Given the description of an element on the screen output the (x, y) to click on. 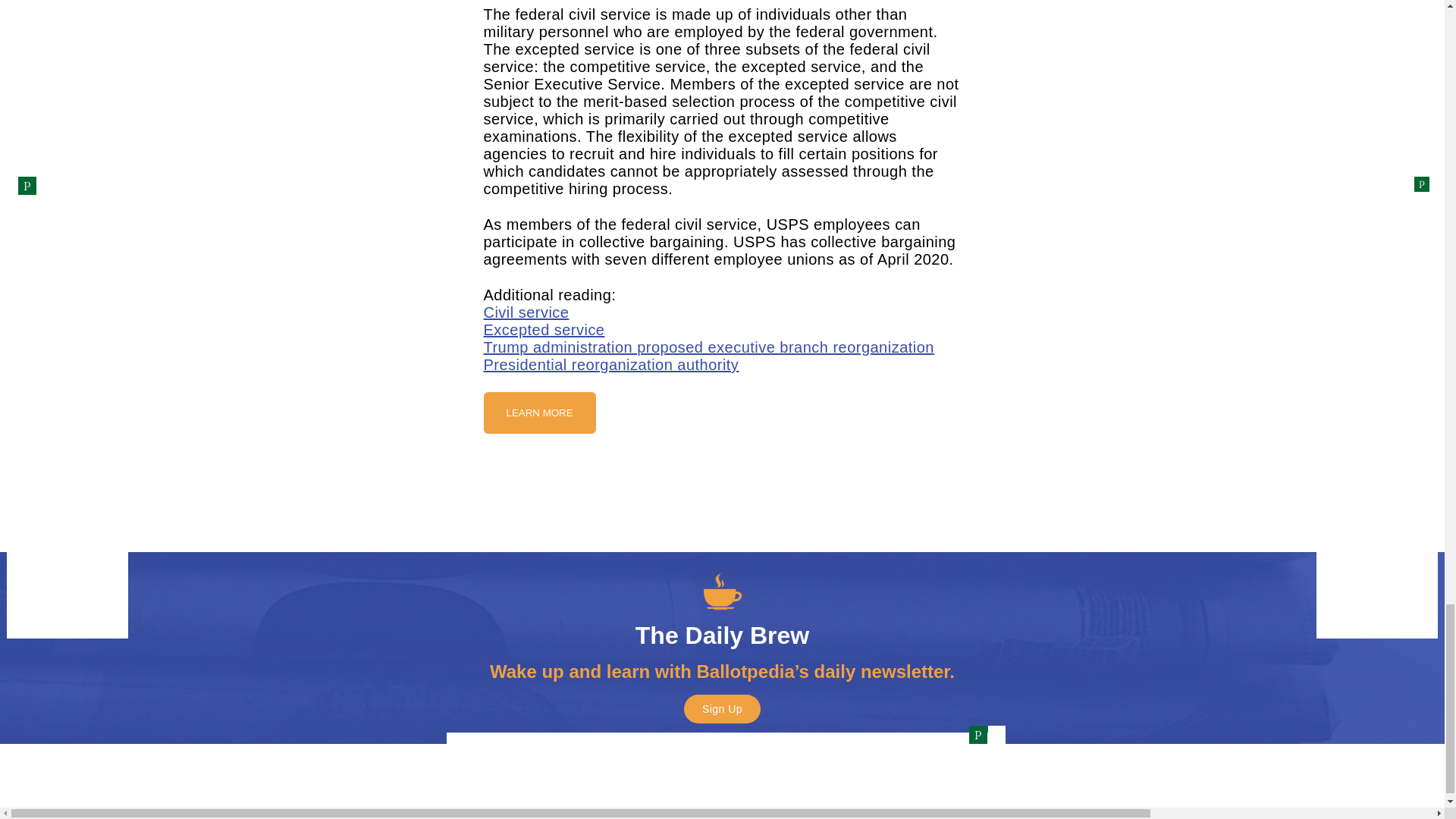
About Ballotpedia (721, 770)
Civil service (526, 312)
3rd party ad content (721, 492)
LEARN MORE (539, 411)
LEARN MORE (539, 413)
Presidential reorganization authority (611, 364)
Disclaimers (863, 770)
Sign Up (722, 708)
Excepted service (544, 329)
Privacy Policy (573, 770)
